Given the description of an element on the screen output the (x, y) to click on. 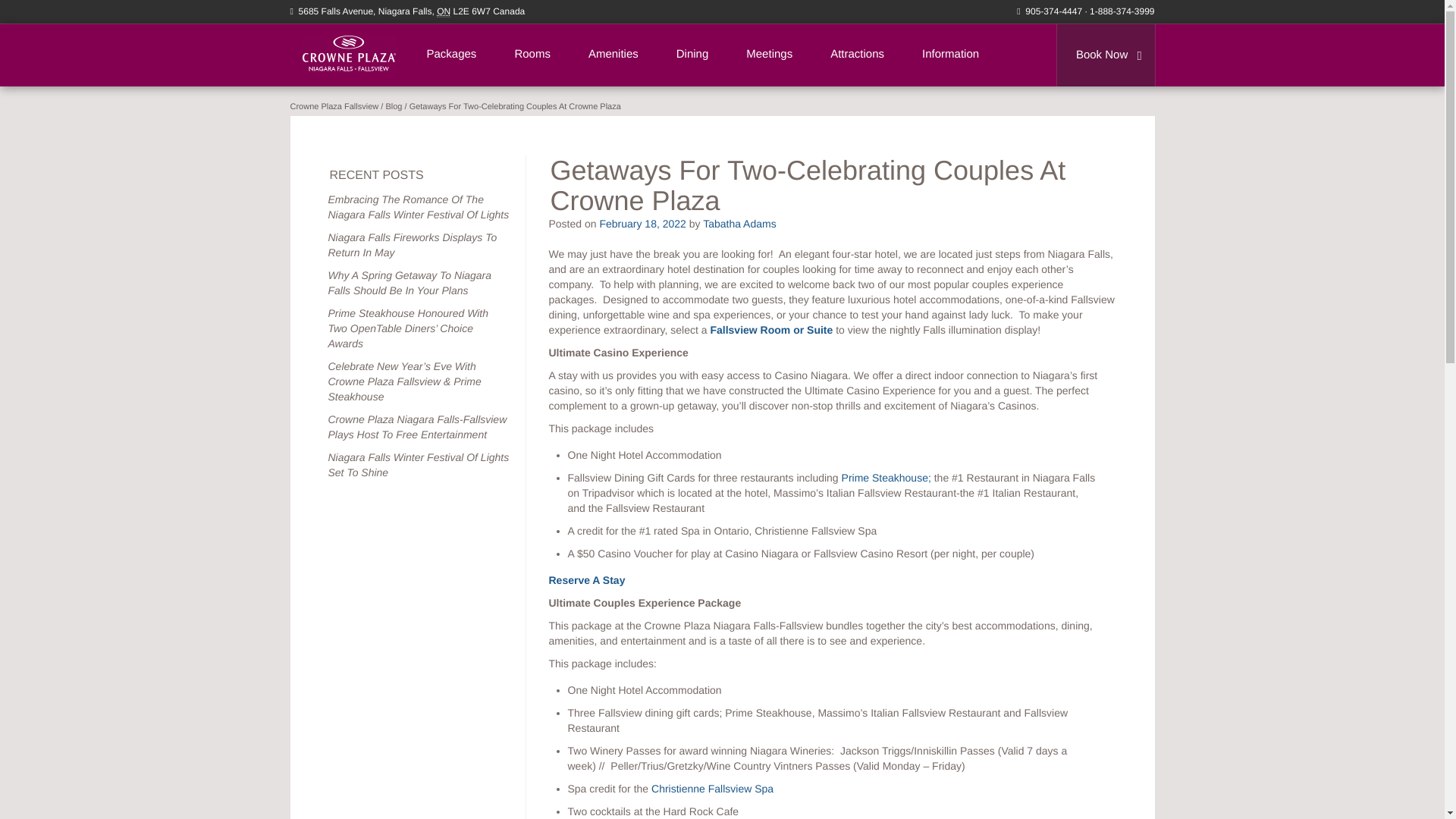
Amenities (613, 54)
Dining (693, 54)
Packages (451, 54)
Meetings (768, 54)
Attractions (856, 54)
Prime Steakhouse; (886, 477)
Reserve A Stay (587, 580)
Niagara Falls Fireworks Displays To Return In May (411, 244)
Christienne Fallsview Spa (711, 788)
1-888-374-3999 (1121, 10)
